Given the description of an element on the screen output the (x, y) to click on. 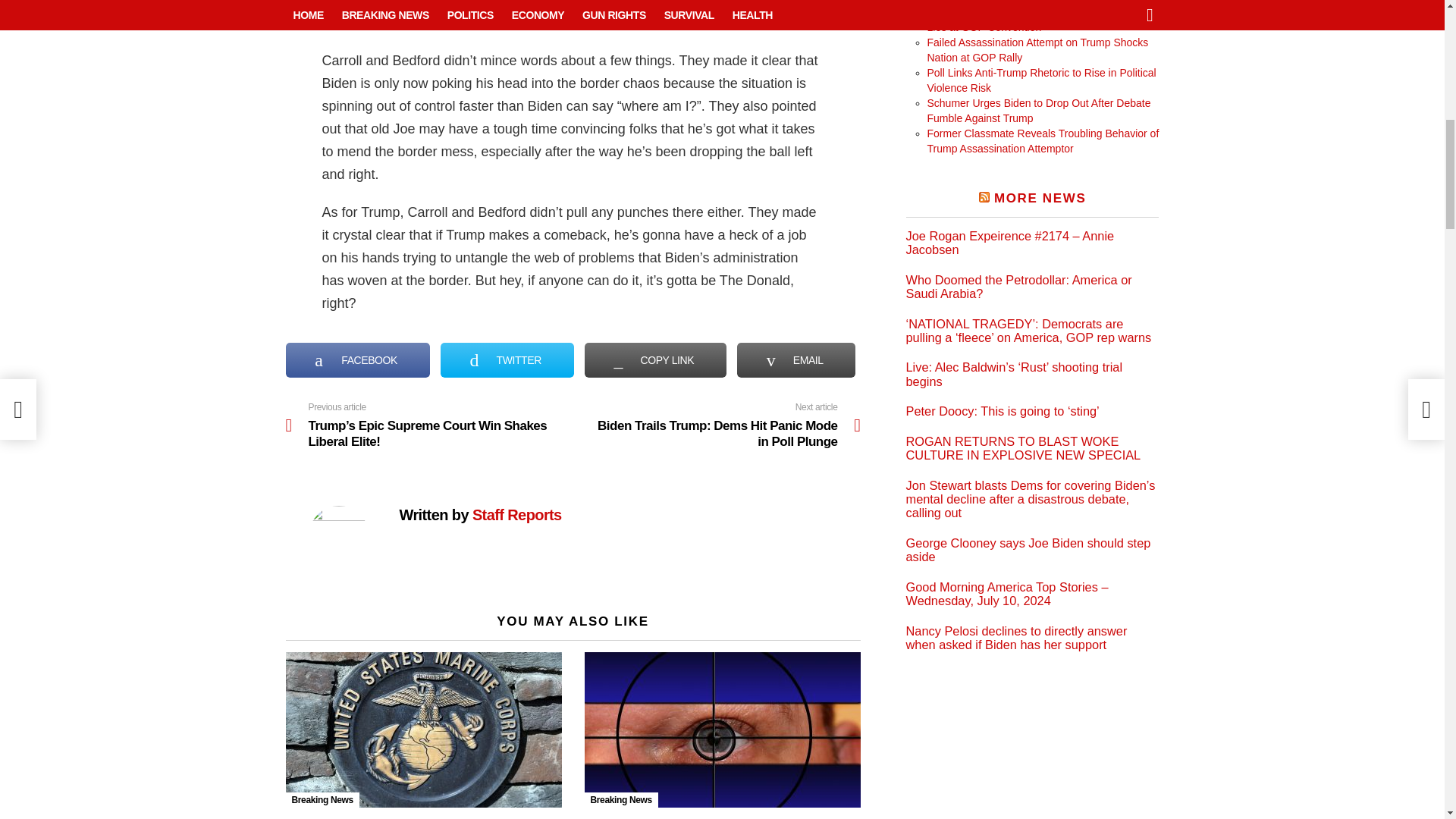
Share on Copy Link (655, 360)
Share on Facebook (357, 360)
Share on Twitter (507, 360)
